Given the description of an element on the screen output the (x, y) to click on. 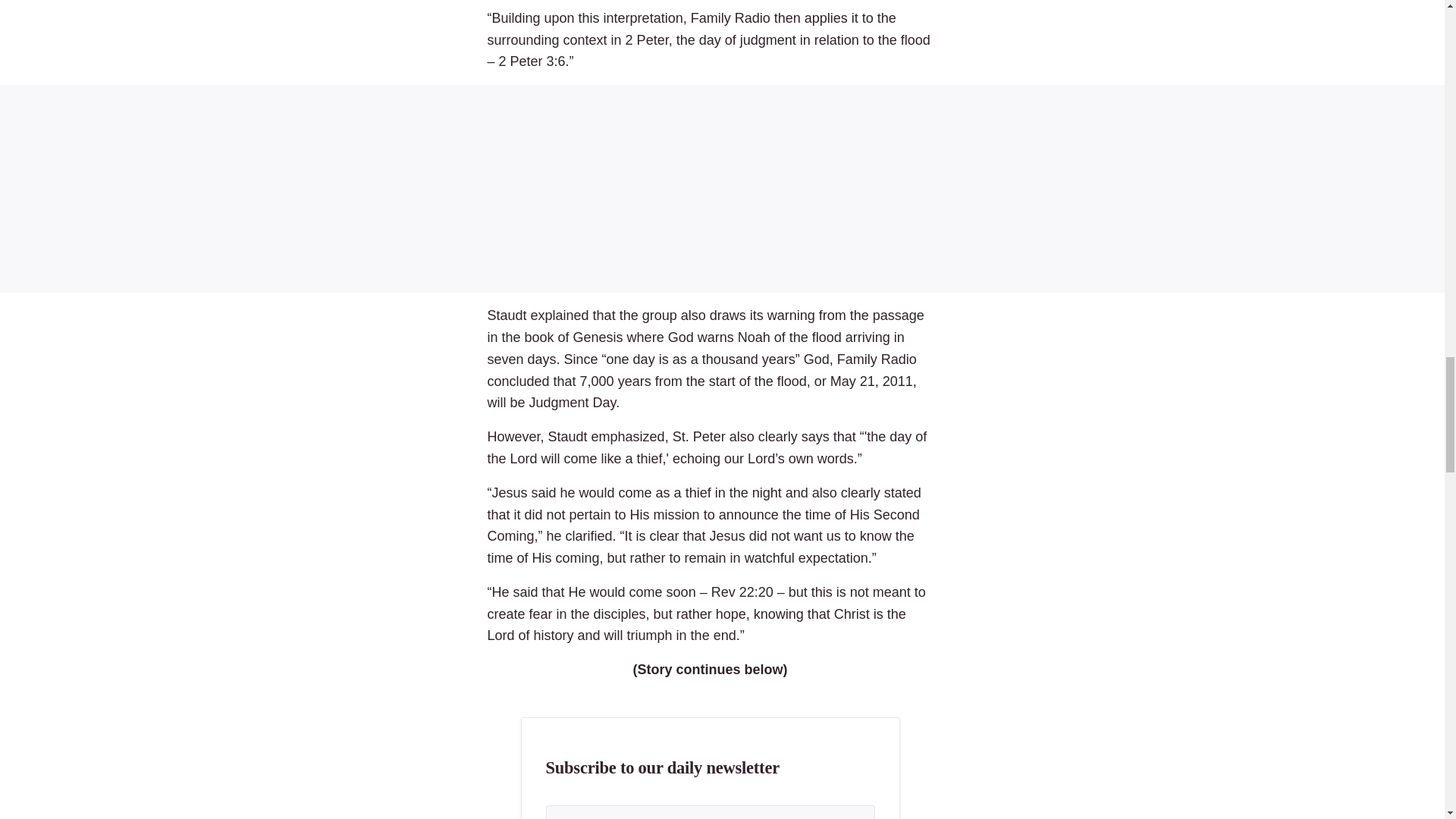
3rd party ad content (721, 188)
